Given the description of an element on the screen output the (x, y) to click on. 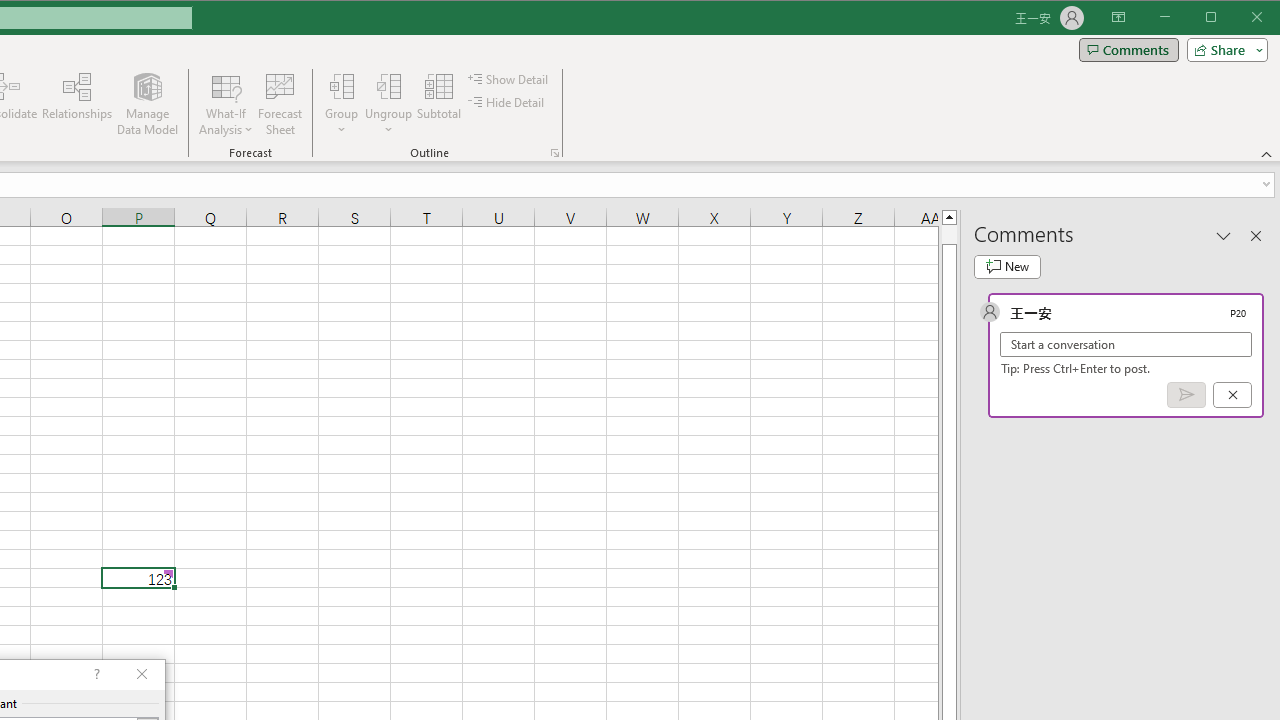
Ungroup... (388, 86)
Manage Data Model (147, 104)
Hide Detail (506, 101)
Group and Outline Settings (554, 152)
Line up (948, 216)
Forecast Sheet (280, 104)
Cancel (1232, 395)
What-If Analysis (226, 104)
Ungroup... (388, 104)
Page up (948, 234)
Maximize (1239, 18)
Start a conversation (1126, 344)
Subtotal (438, 104)
Post comment (Ctrl + Enter) (1186, 395)
